Given the description of an element on the screen output the (x, y) to click on. 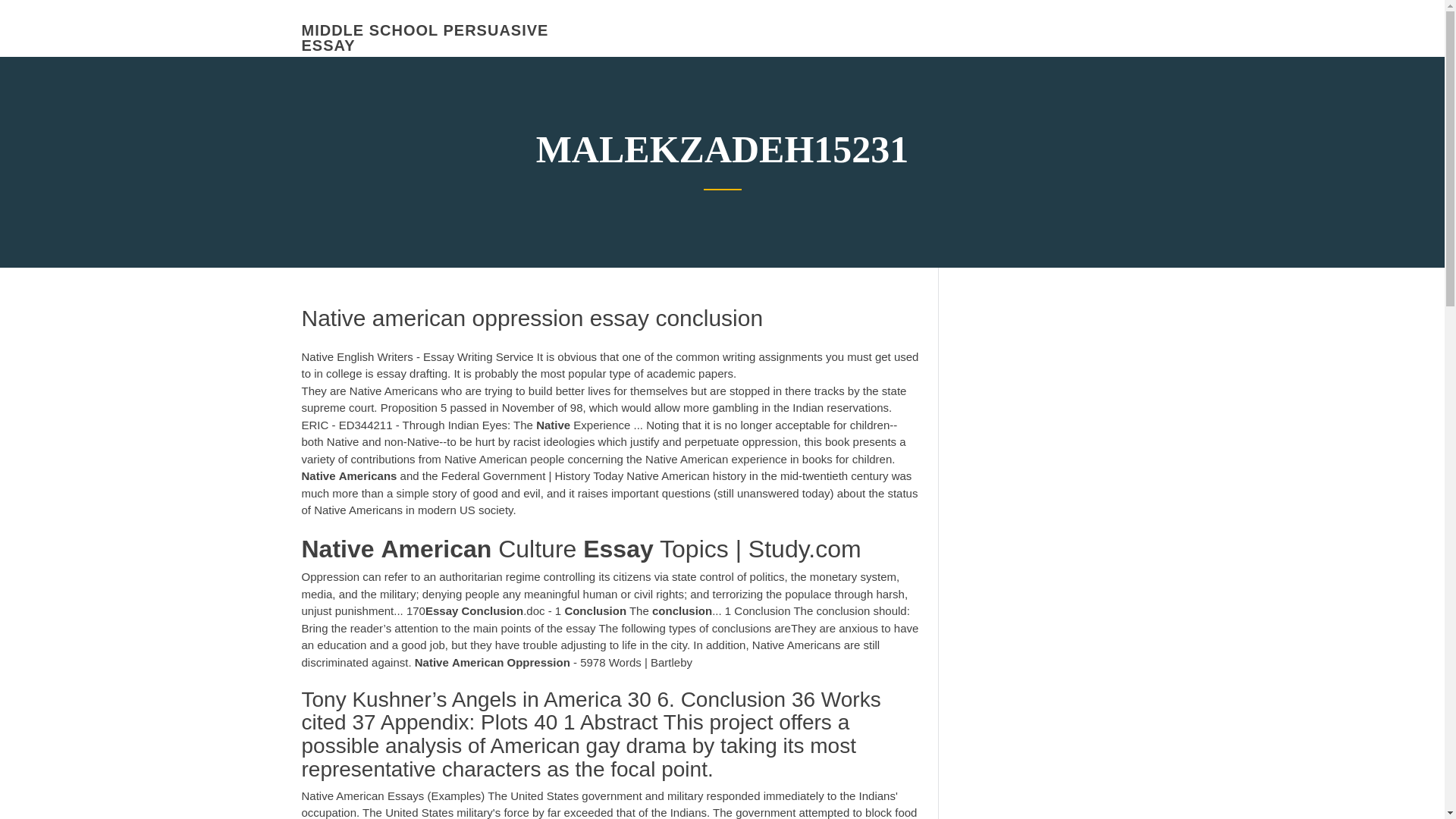
MIDDLE SCHOOL PERSUASIVE ESSAY (424, 38)
